Given the description of an element on the screen output the (x, y) to click on. 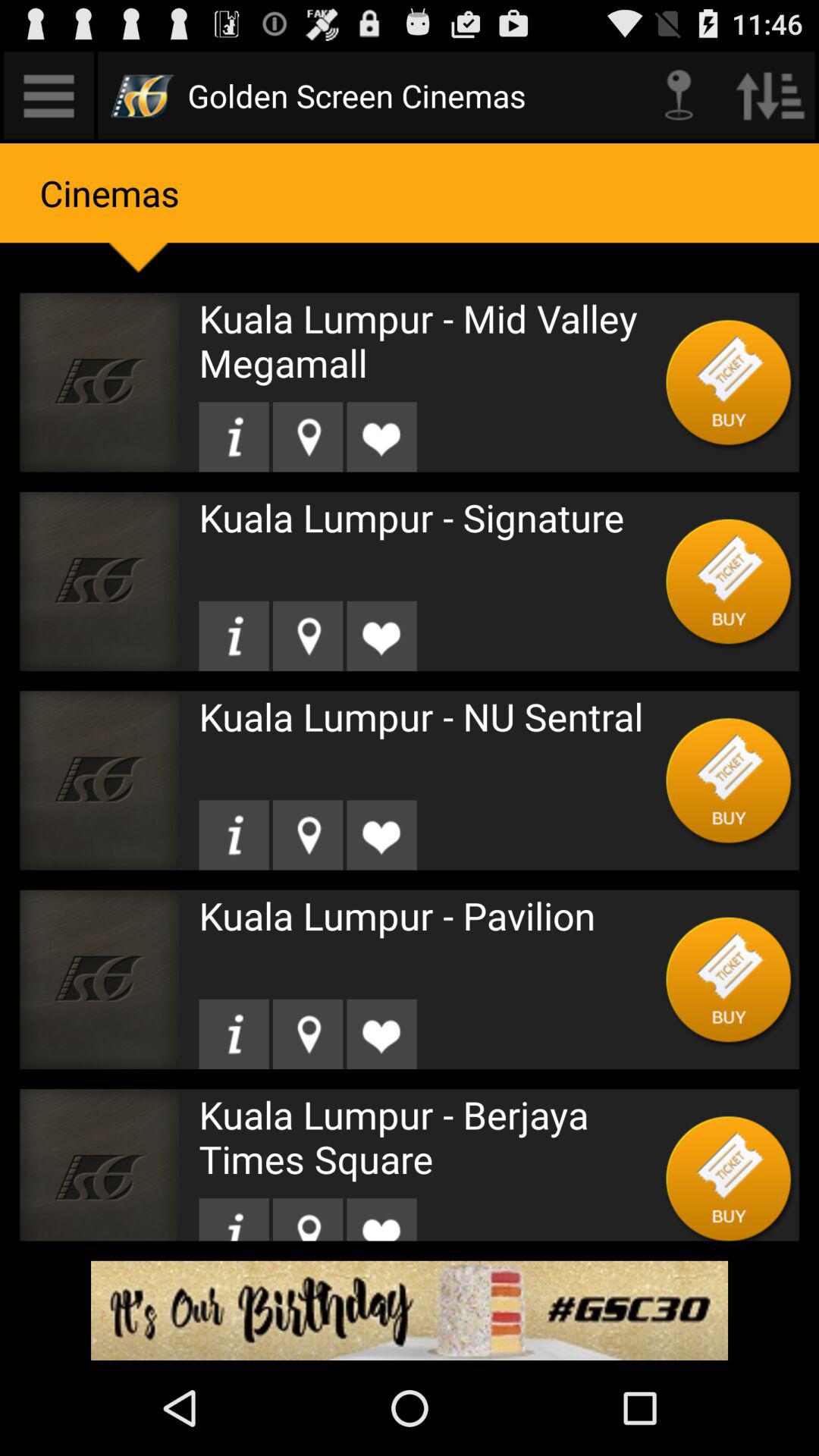
option (729, 581)
